Given the description of an element on the screen output the (x, y) to click on. 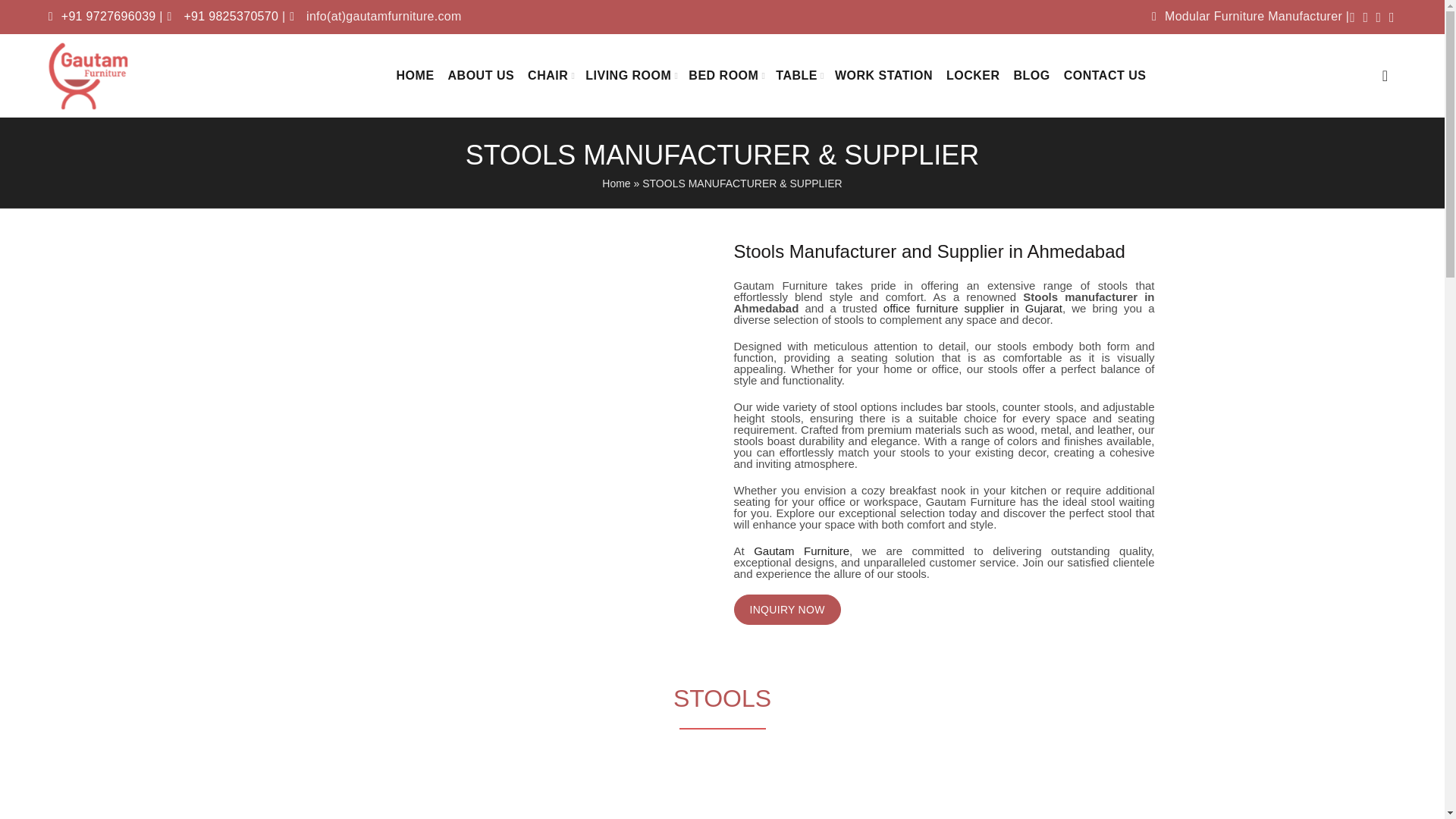
Office Furniture Supplier in Gujarat (972, 308)
ABOUT US (481, 75)
Modular Furniture Manufacturer (1246, 15)
Furniture Manufacturer in Ahmedabad (801, 550)
